Given the description of an element on the screen output the (x, y) to click on. 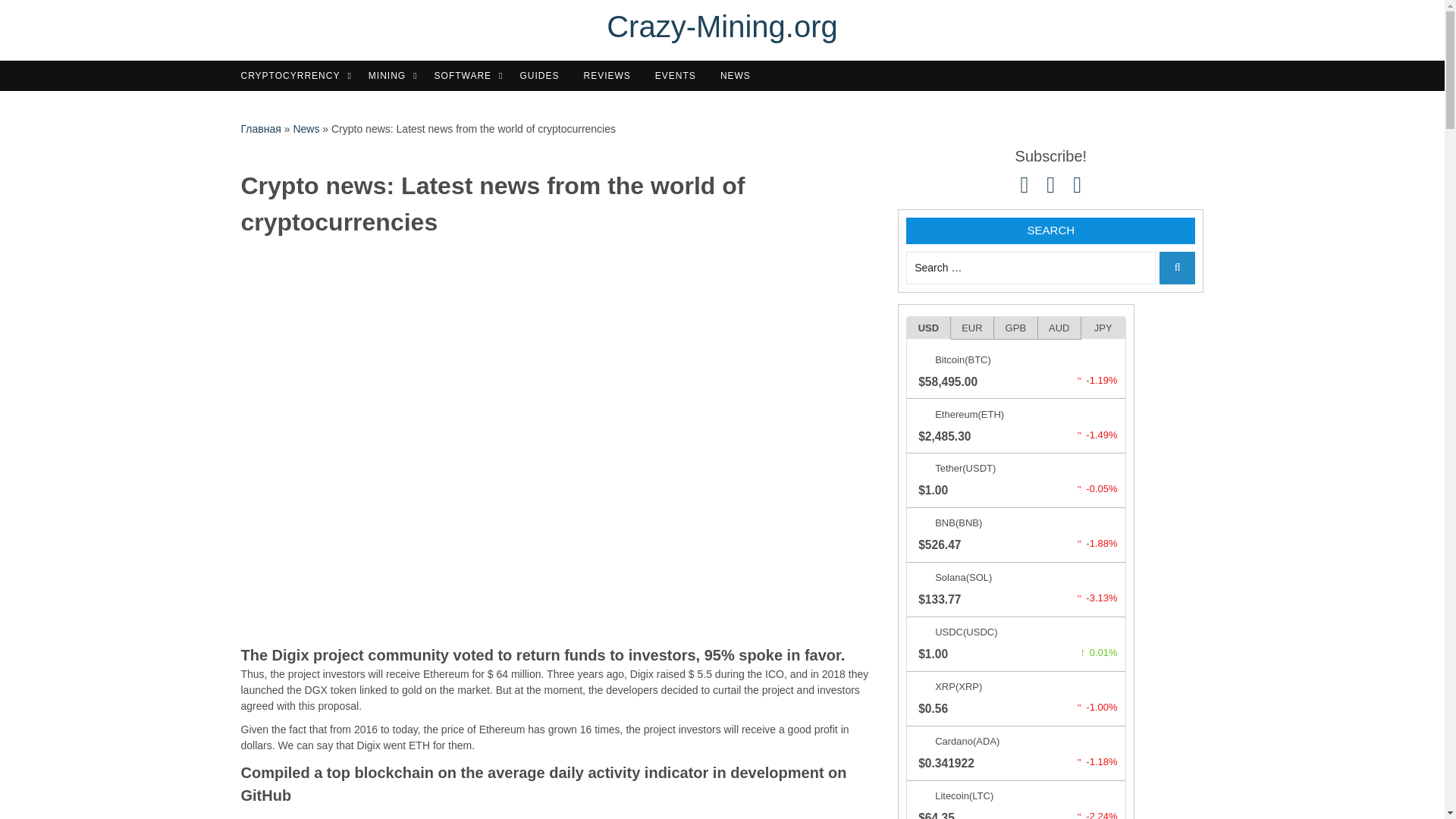
Crazy-Mining.org (722, 26)
SOFTWARE (468, 75)
MINING (392, 75)
NEWS (739, 75)
CRYPTOCYRRENCY (296, 75)
News (305, 128)
REVIEWS (611, 75)
EVENTS (679, 75)
GUIDES (543, 75)
